Given the description of an element on the screen output the (x, y) to click on. 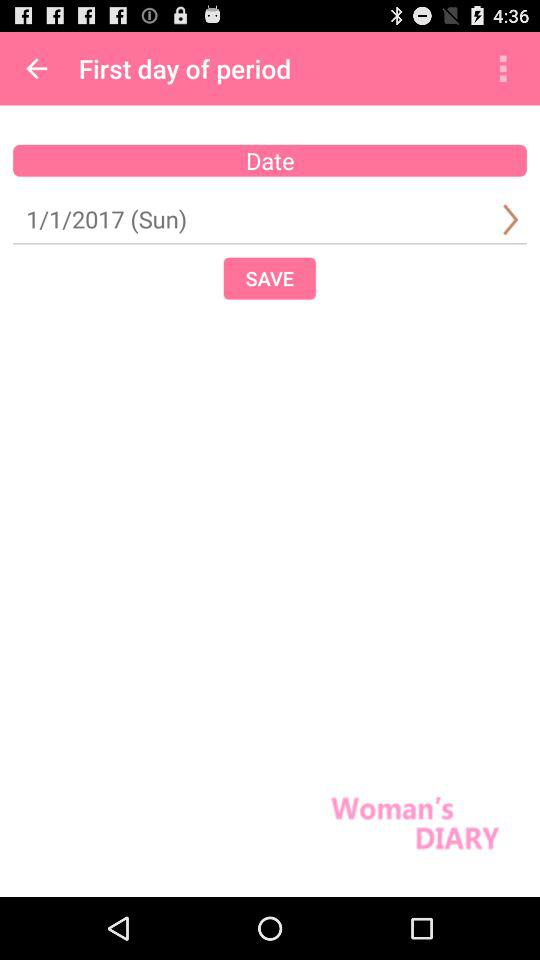
turn off the icon to the right of the first day of app (503, 67)
